Given the description of an element on the screen output the (x, y) to click on. 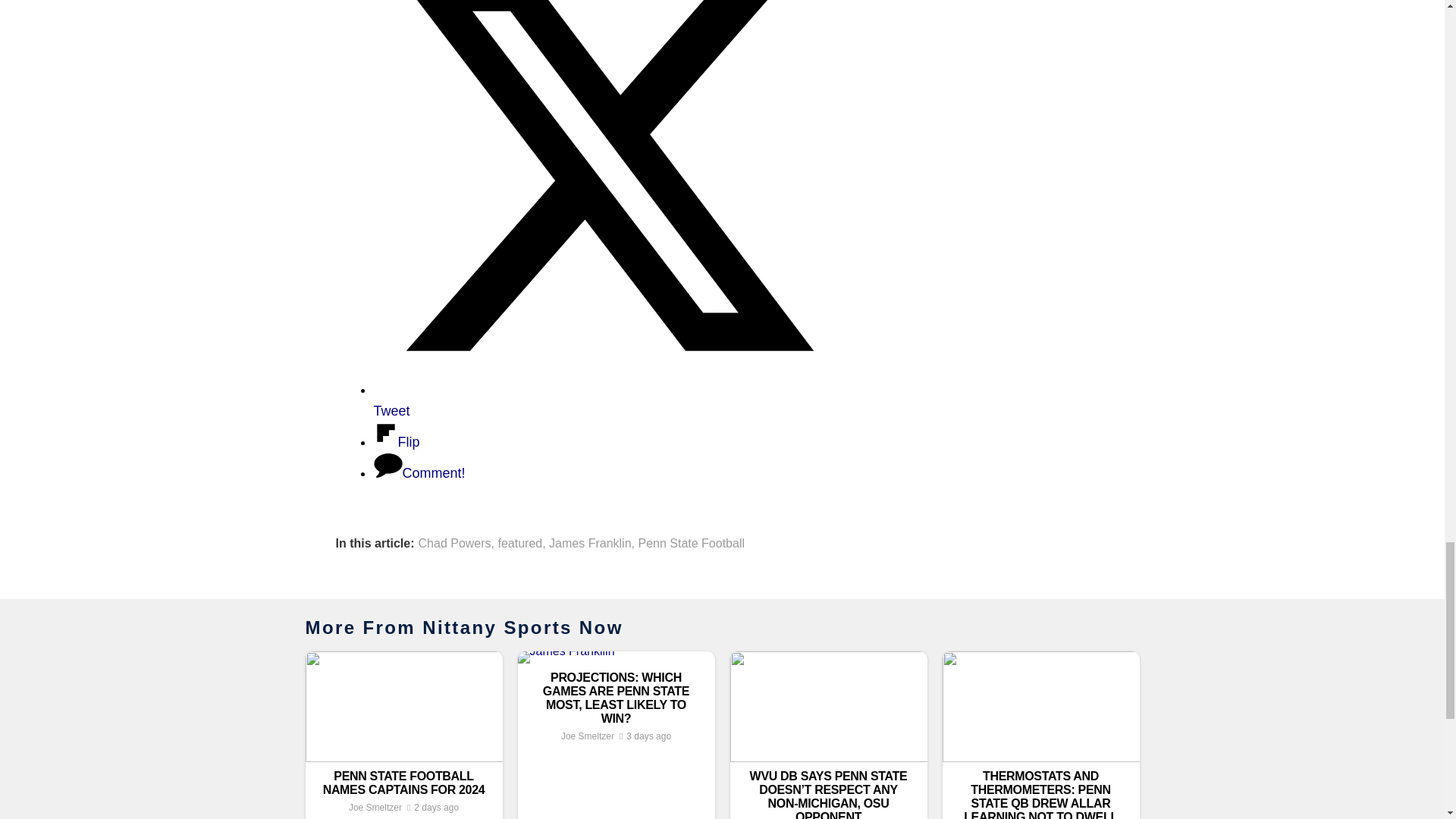
Posts by Joe Smeltzer (587, 736)
Share on Flip (395, 441)
Share on Comment! (418, 473)
Share on Tweet (603, 400)
Posts by Joe Smeltzer (375, 807)
